Given the description of an element on the screen output the (x, y) to click on. 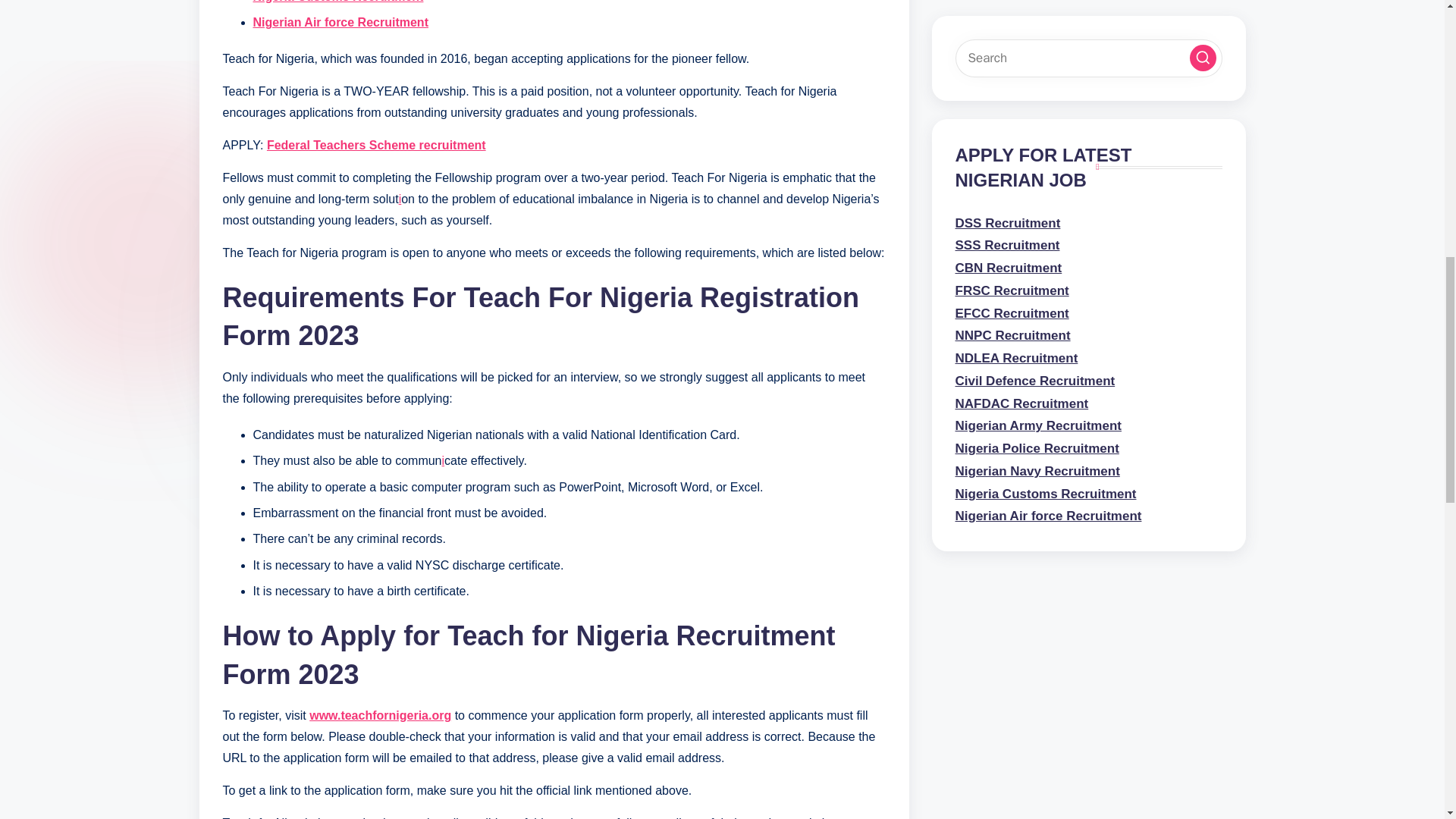
FRSC Recruitment (1011, 261)
Advertisement (1089, 58)
NDLEA Recruitment (1016, 397)
CBN Recruitment (1008, 329)
NNPC Recruitment (1012, 374)
EFCC Recruitment (1011, 307)
NAFDAC Recruitment (1022, 420)
FCSC Recruitment (1011, 351)
DSS Recruitment (1008, 284)
